Given the description of an element on the screen output the (x, y) to click on. 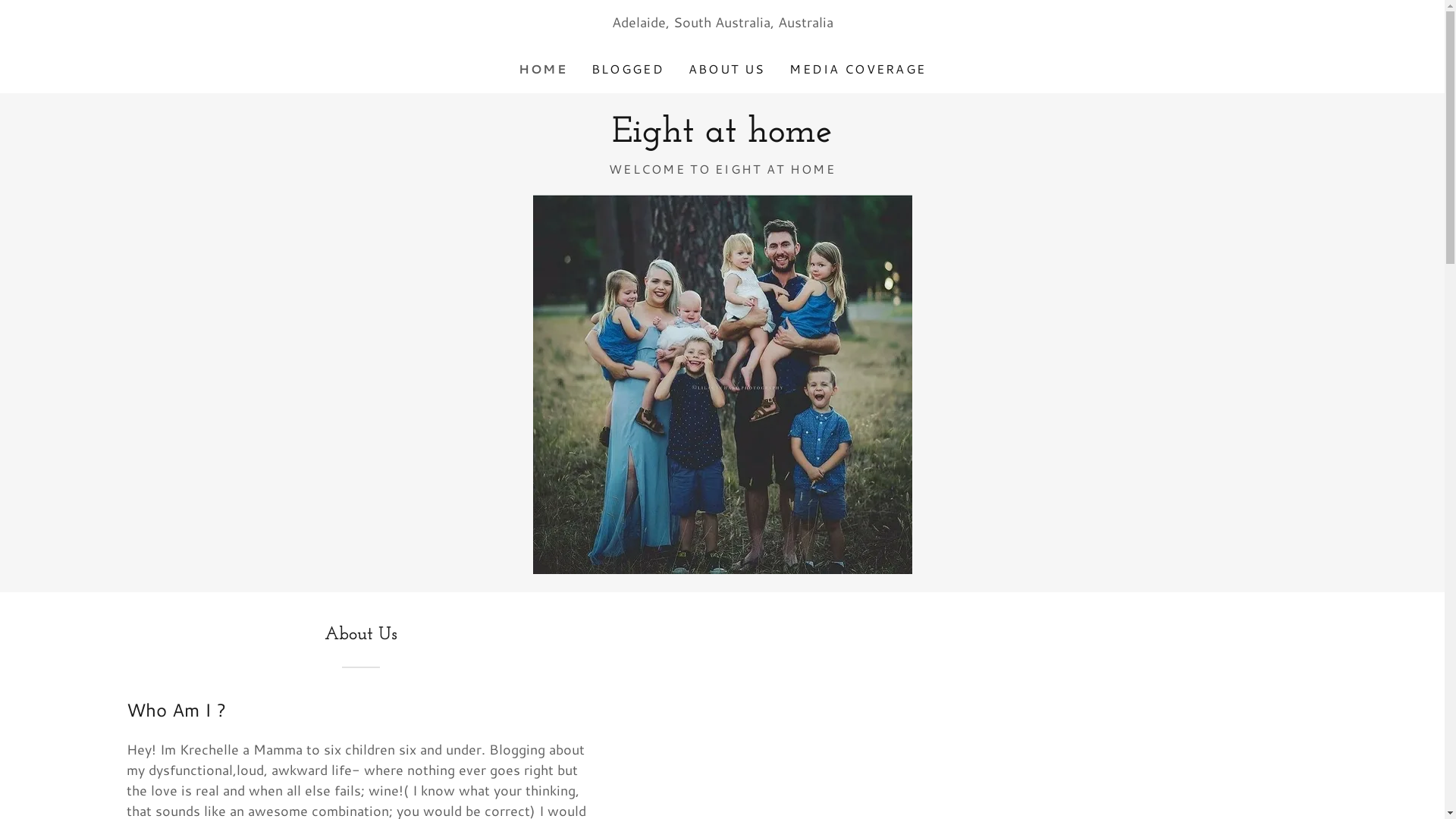
ABOUT US Element type: text (726, 68)
HOME Element type: text (542, 68)
BLOGGED Element type: text (627, 68)
MEDIA COVERAGE Element type: text (857, 68)
Eight at home Element type: text (721, 136)
